Given the description of an element on the screen output the (x, y) to click on. 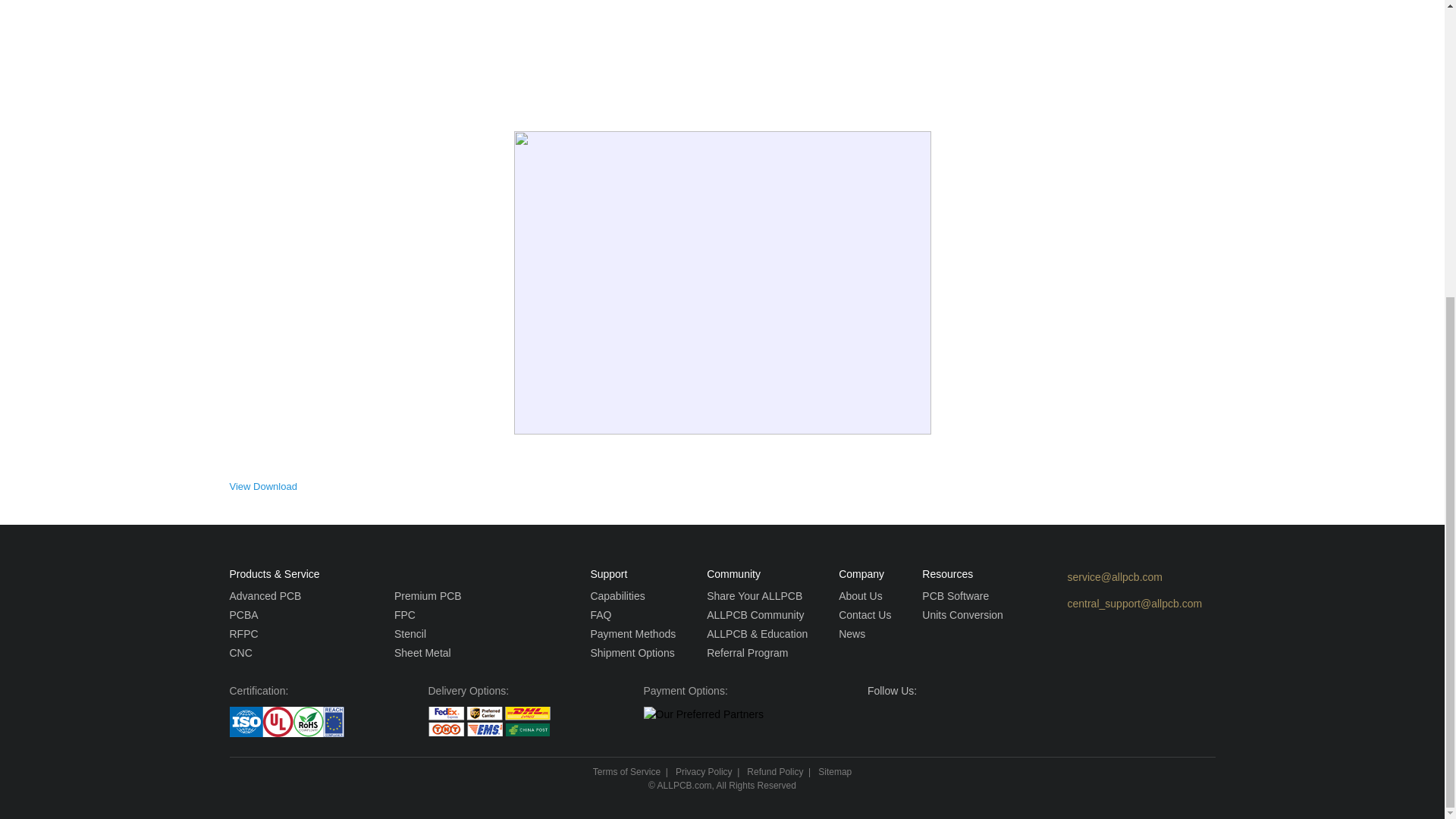
Follow us on linkedin (992, 719)
Complaint or Suggestion (1123, 603)
Follow us on youtube (907, 719)
Customer Support (1123, 576)
Follow us on instagram (964, 719)
Follow us on facebook (878, 719)
SchemeIt (418, 56)
Follow us on twitter (935, 719)
